Given the description of an element on the screen output the (x, y) to click on. 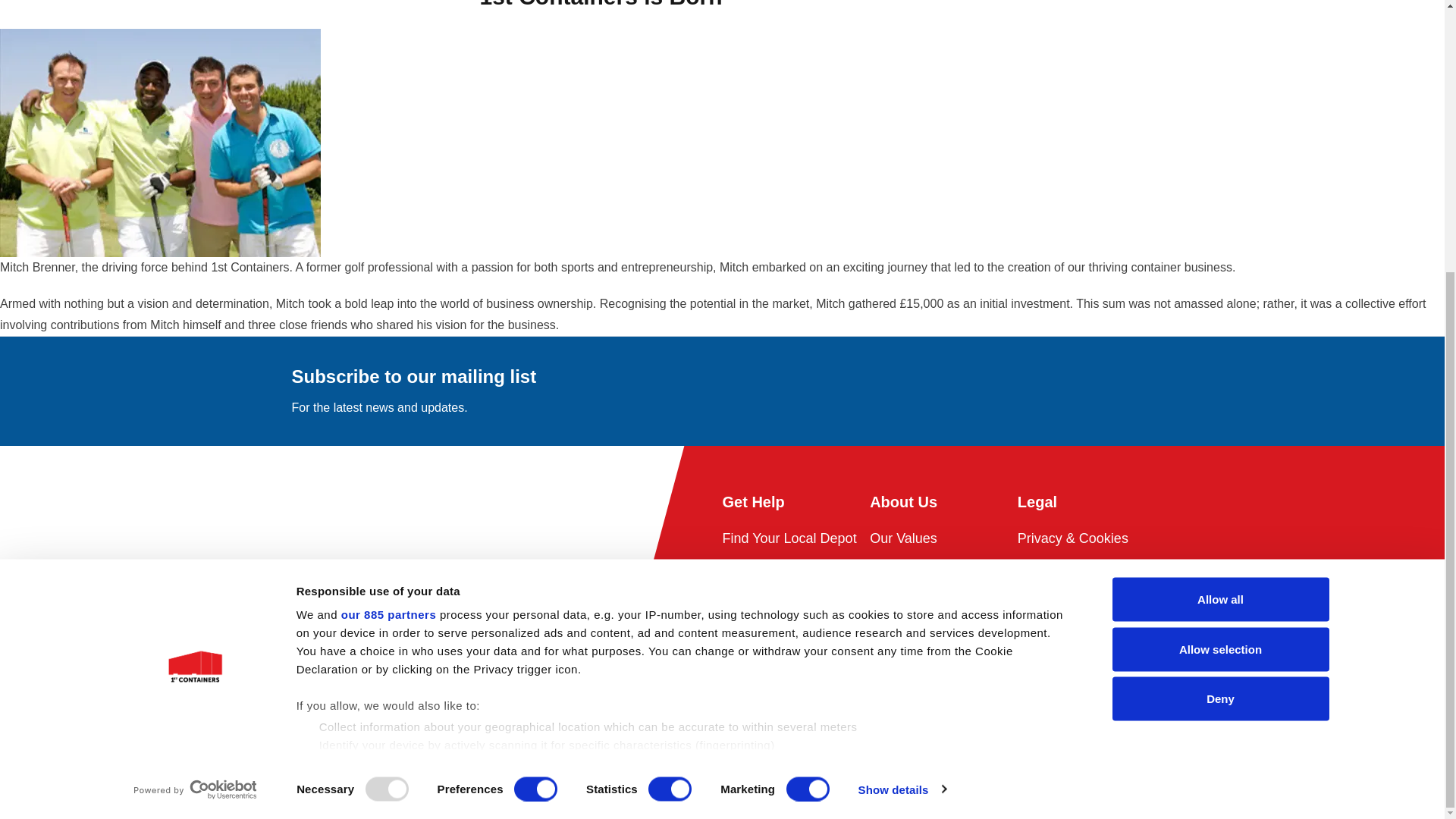
details section (825, 366)
Show details (900, 390)
our 885 partners (388, 215)
